Given the description of an element on the screen output the (x, y) to click on. 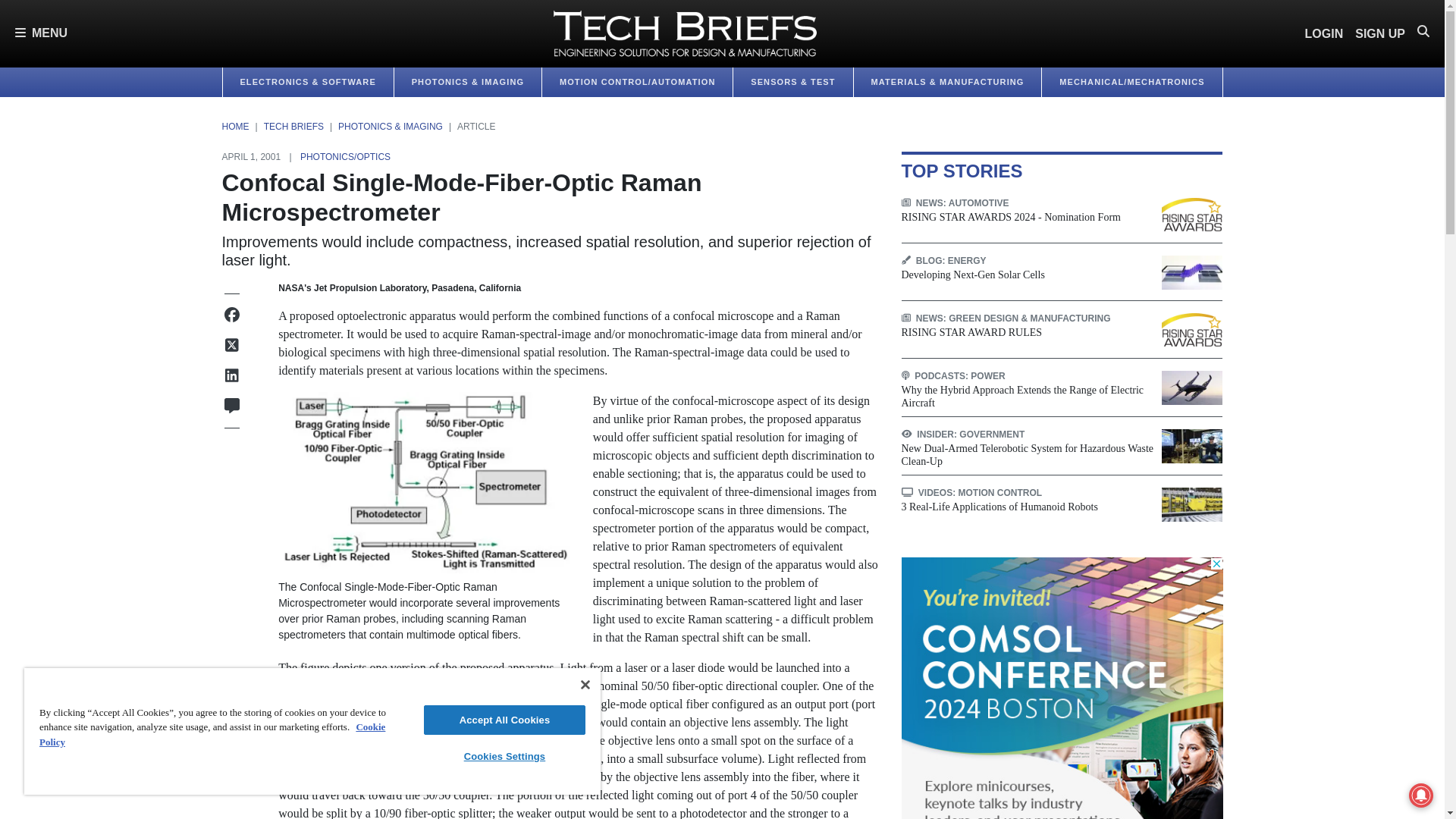
MENU (41, 33)
3rd party ad content (1062, 688)
LOGIN (1323, 32)
SIGN UP (1379, 32)
